Given the description of an element on the screen output the (x, y) to click on. 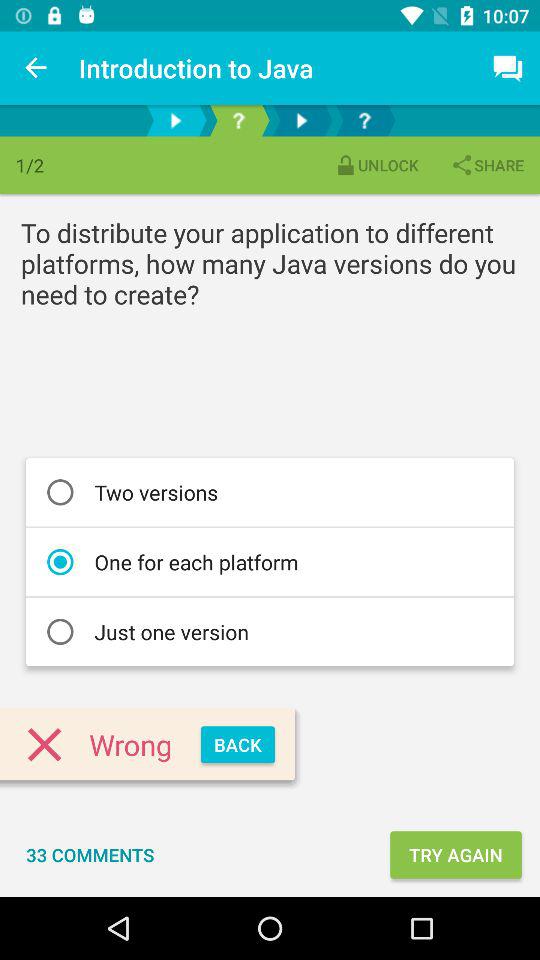
open icon below just one version icon (237, 744)
